Given the description of an element on the screen output the (x, y) to click on. 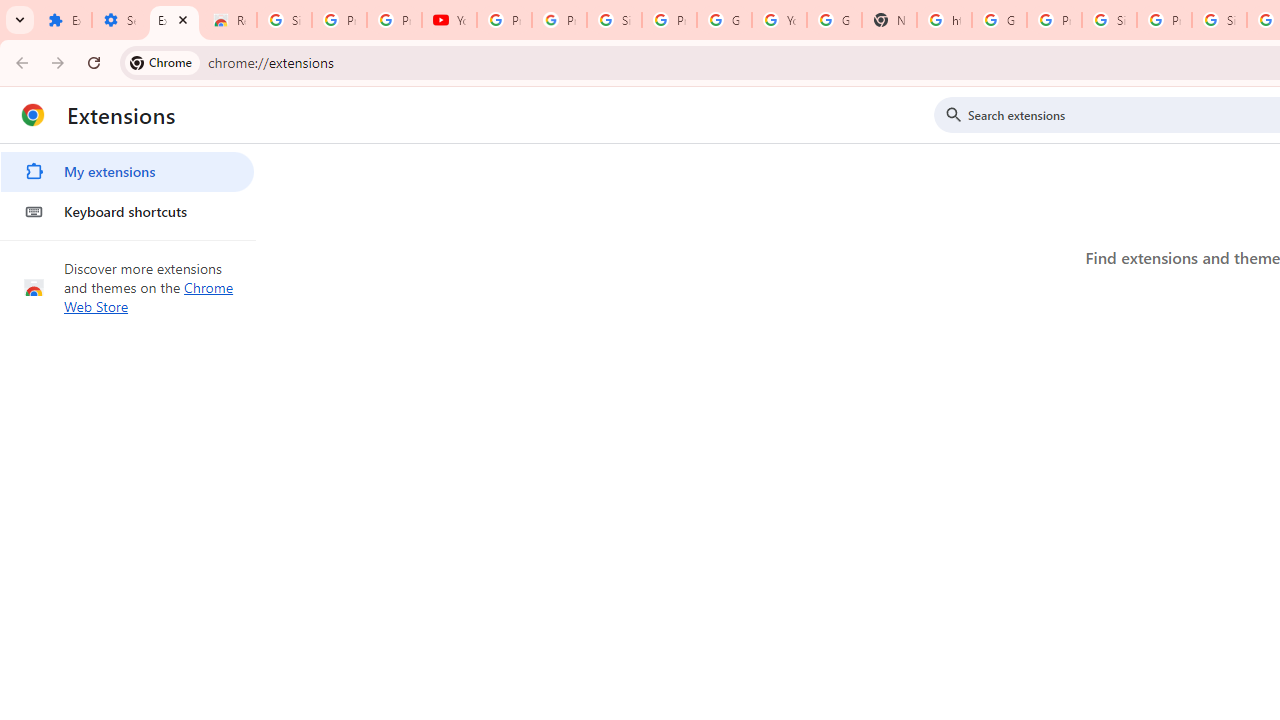
Extensions (64, 20)
Extensions (174, 20)
Reviews: Helix Fruit Jump Arcade Game (229, 20)
My extensions (127, 171)
AutomationID: sectionMenu (128, 187)
Sign in - Google Accounts (1108, 20)
Sign in - Google Accounts (284, 20)
